Given the description of an element on the screen output the (x, y) to click on. 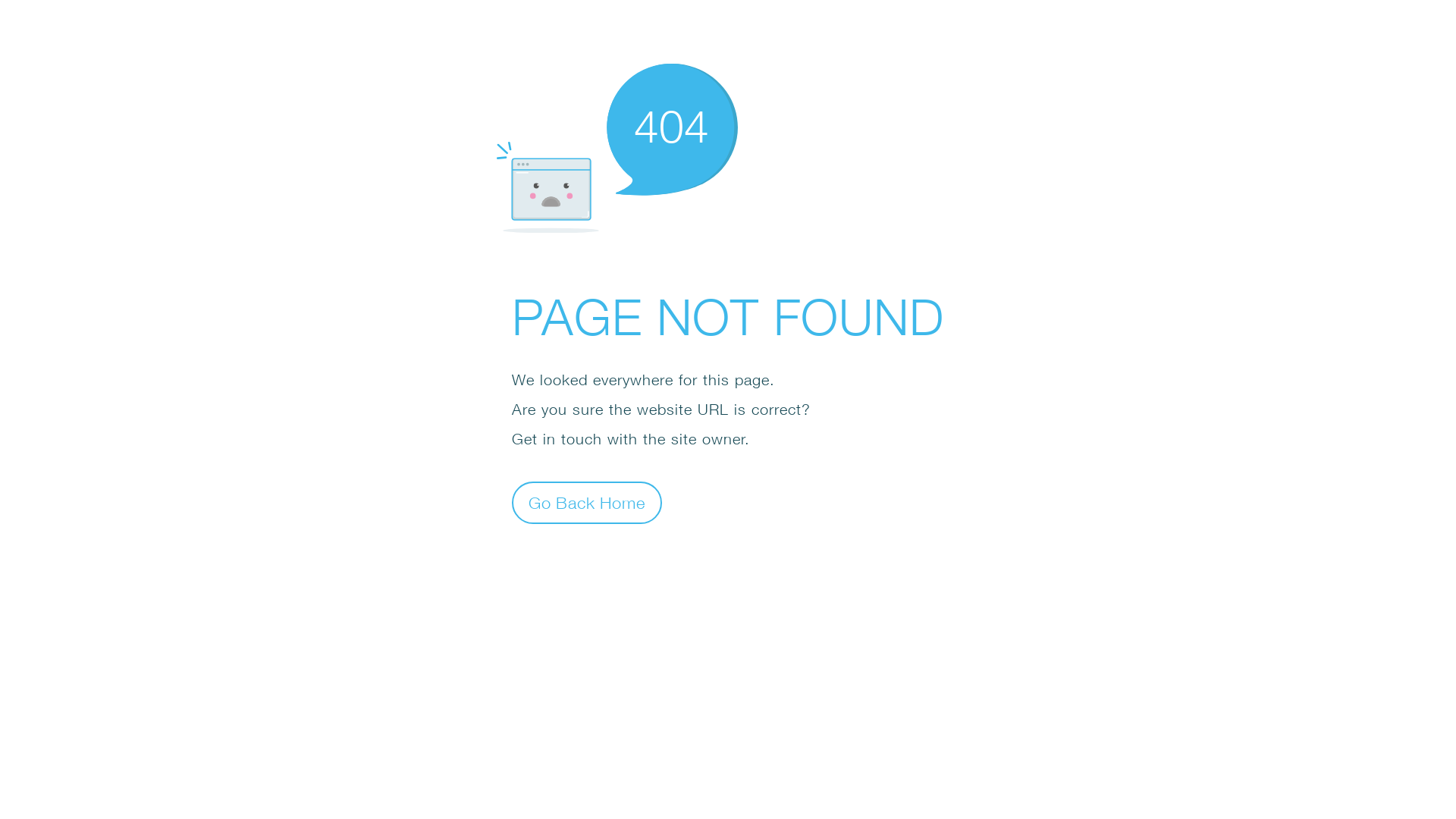
Go Back Home Element type: text (586, 502)
